Given the description of an element on the screen output the (x, y) to click on. 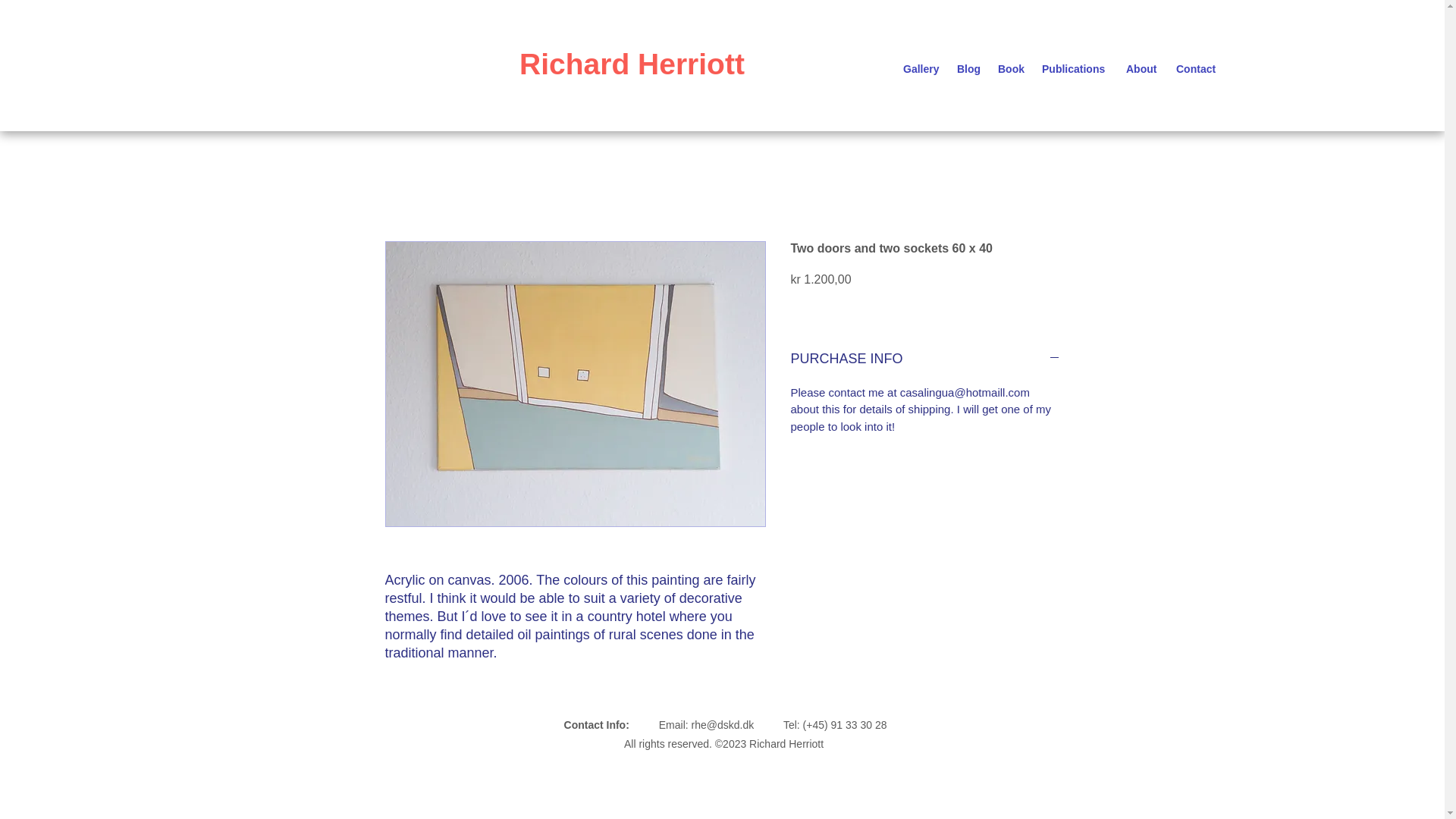
Book (1011, 68)
About (1143, 68)
Contact (1198, 68)
PURCHASE INFO (924, 359)
Gallery (922, 68)
Publications (1075, 68)
Blog (969, 68)
Richard Herriott (631, 63)
